Given the description of an element on the screen output the (x, y) to click on. 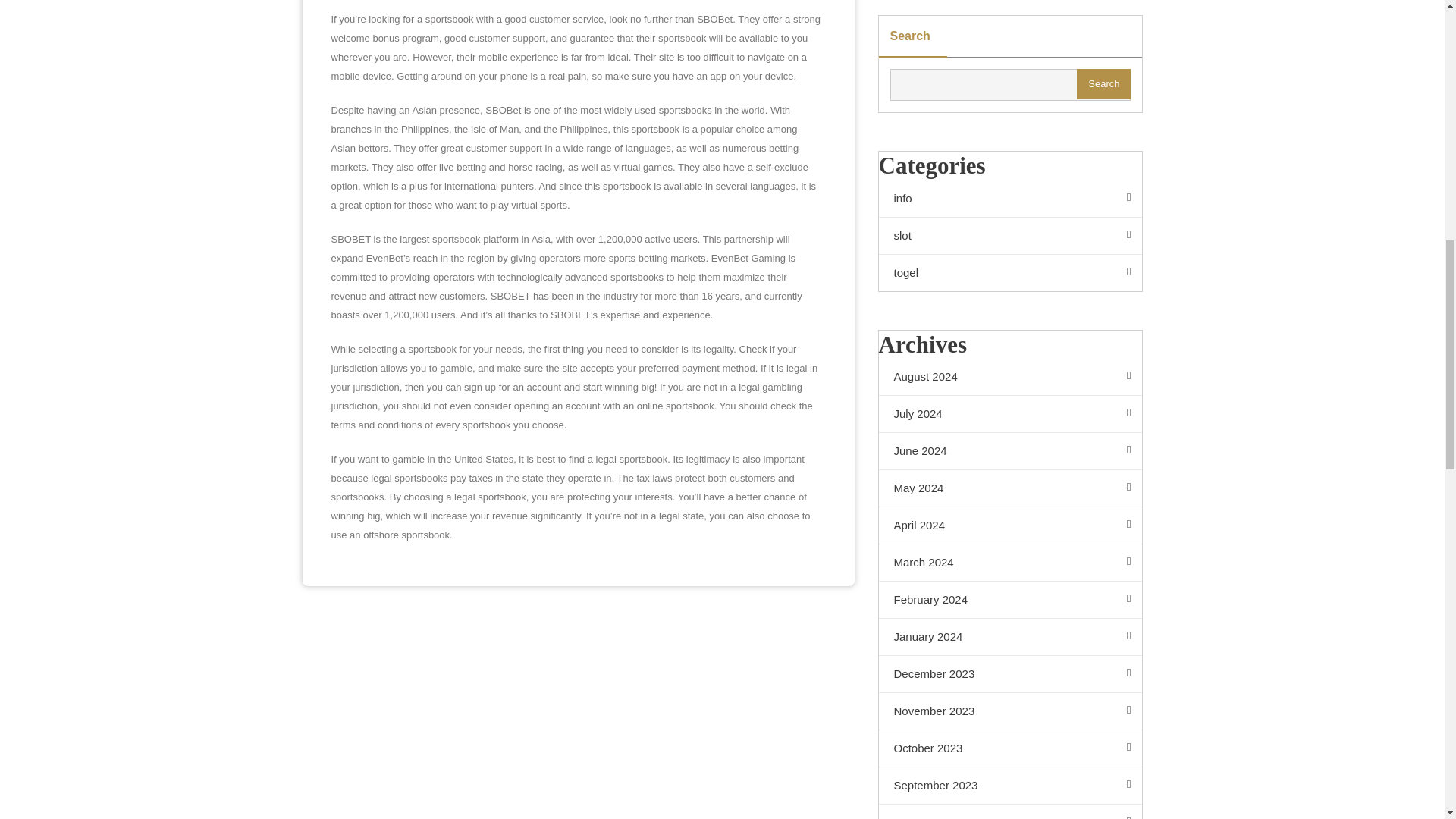
August 2023 (1009, 811)
April 2024 (1009, 525)
September 2023 (1009, 785)
December 2023 (1009, 674)
August 2024 (1009, 376)
February 2024 (1009, 600)
July 2024 (1009, 414)
togel (1009, 272)
October 2023 (1009, 748)
November 2023 (1009, 711)
